Given the description of an element on the screen output the (x, y) to click on. 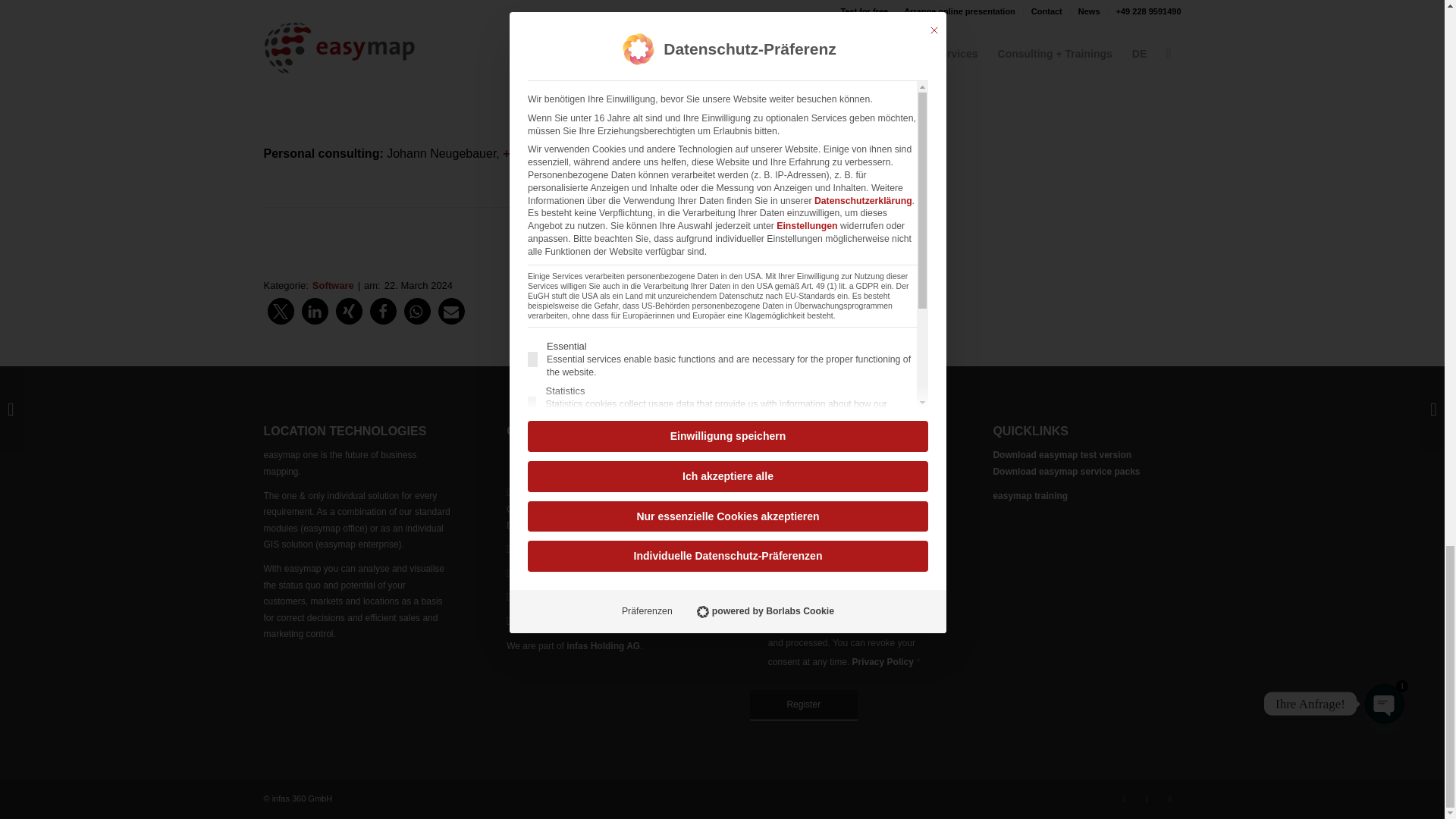
Software (333, 285)
